Given the description of an element on the screen output the (x, y) to click on. 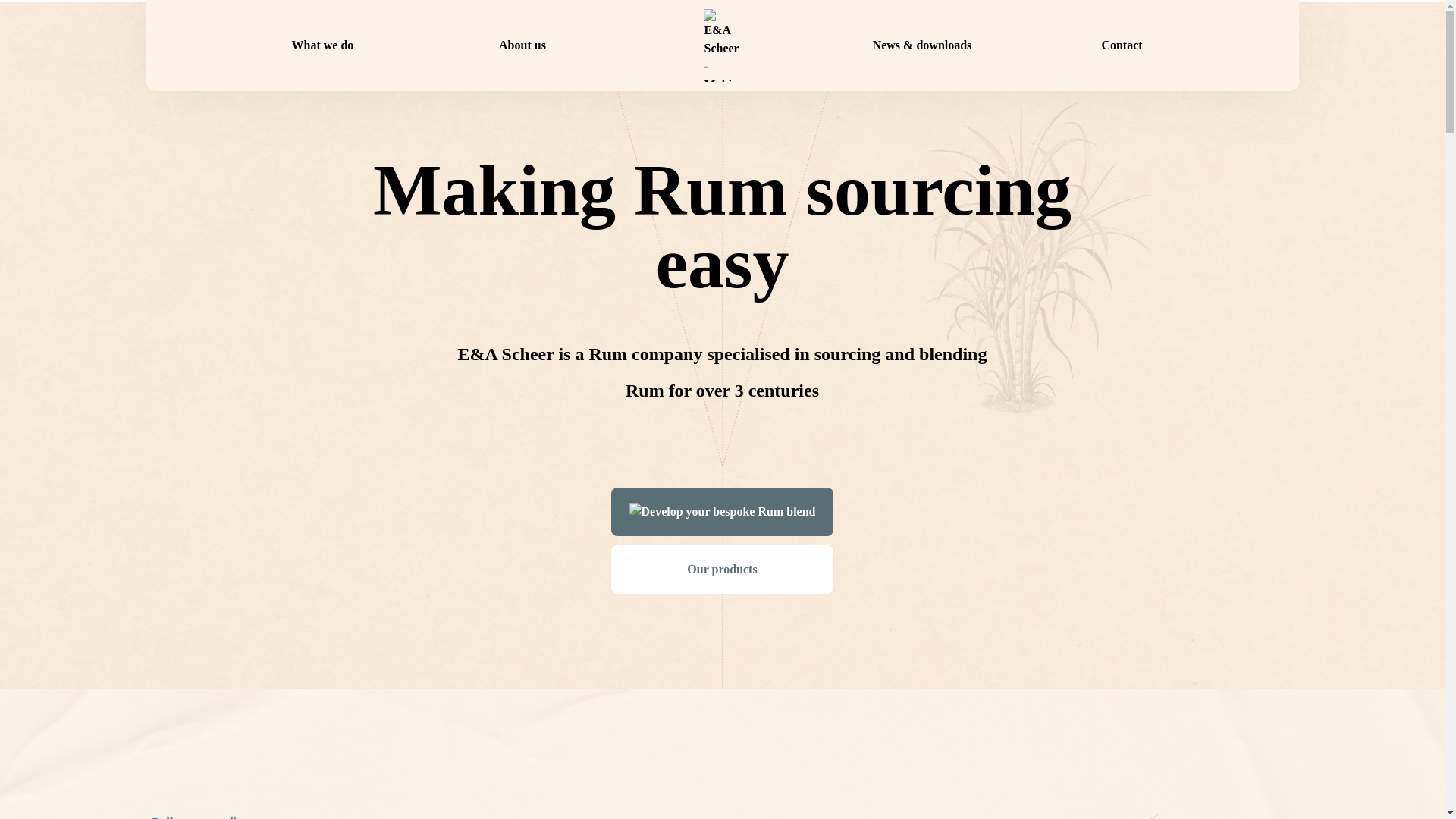
Our products (722, 569)
What we do (322, 45)
About us (522, 45)
Contact (1120, 45)
